Given the description of an element on the screen output the (x, y) to click on. 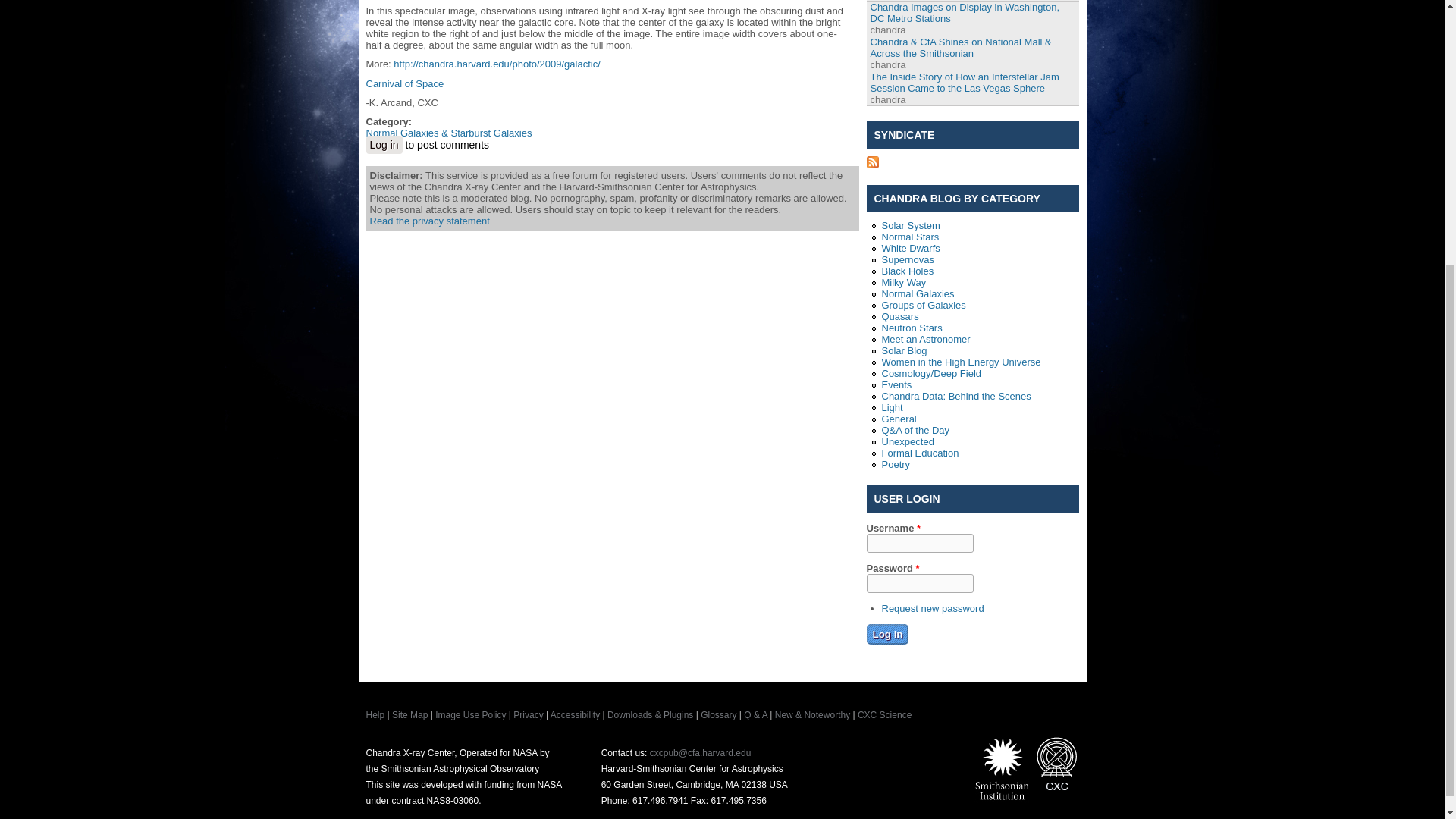
Supernovas (906, 259)
Carnival of Space (404, 83)
Log in (383, 144)
Quasars (899, 316)
Normal Galaxies (916, 293)
Meet an Astronomer (924, 338)
Solar Blog (903, 350)
Chandra Images on Display in Washington, DC Metro Stations (964, 12)
Solar System (909, 225)
Normal Stars (909, 236)
Milky Way (903, 282)
Log in (887, 634)
Subscribe to Syndicate (871, 163)
Black Holes (906, 270)
